Given the description of an element on the screen output the (x, y) to click on. 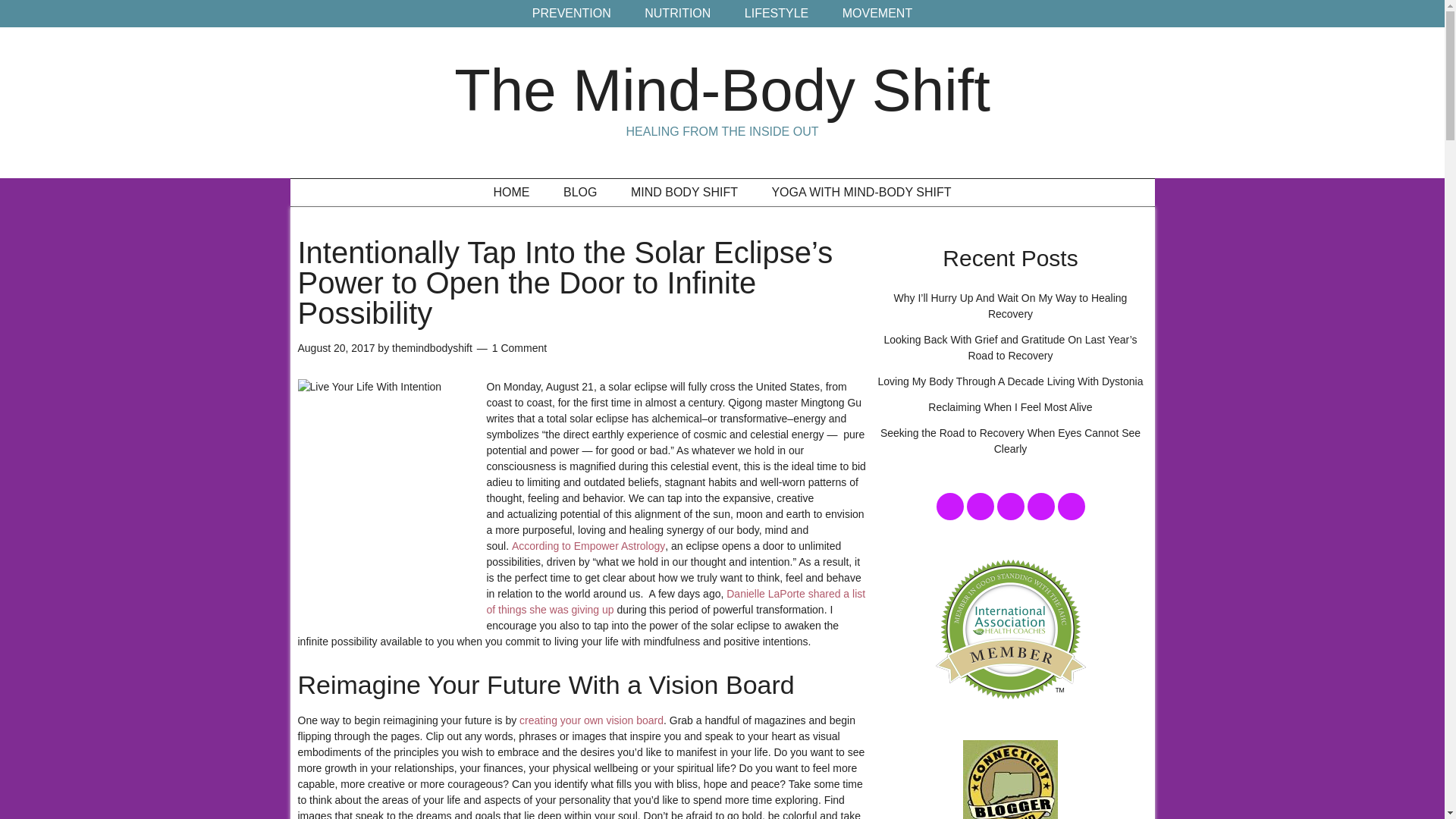
1 Comment (519, 347)
MOVEMENT (877, 13)
YOGA WITH MIND-BODY SHIFT (860, 192)
HOME (511, 192)
Danielle LaPorte shared a list of things she was giving up (676, 601)
MIND BODY SHIFT (683, 192)
According to Empower Astrology (588, 545)
LIFESTYLE (776, 13)
NUTRITION (676, 13)
The Mind-Body Shift (722, 89)
